Given the description of an element on the screen output the (x, y) to click on. 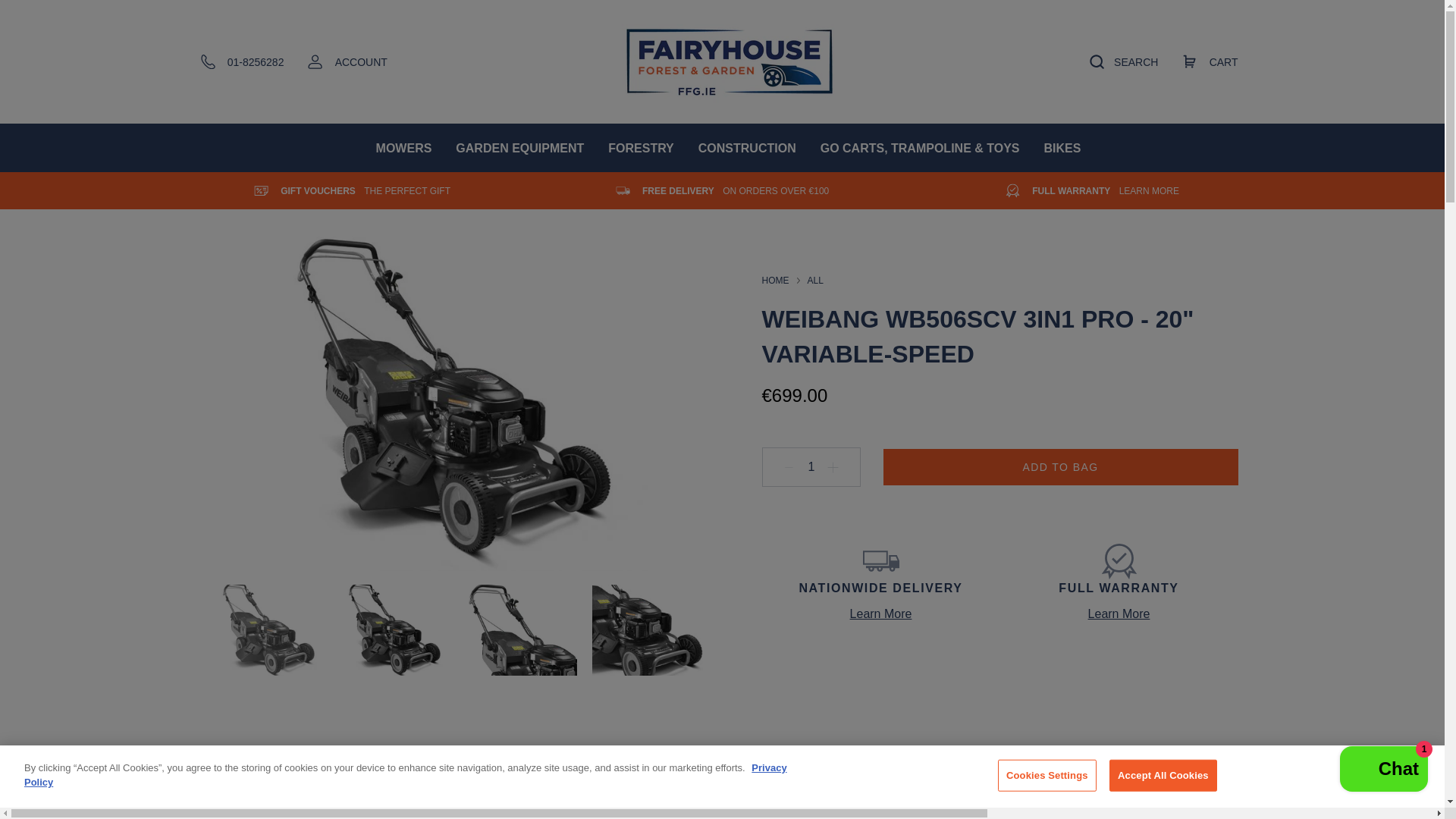
Gift Vouchers (365, 190)
Shopify online store chat (1383, 770)
Full Warranty (1105, 190)
Call Us on tel:018256282 (241, 62)
Free Delivery (735, 190)
